Given the description of an element on the screen output the (x, y) to click on. 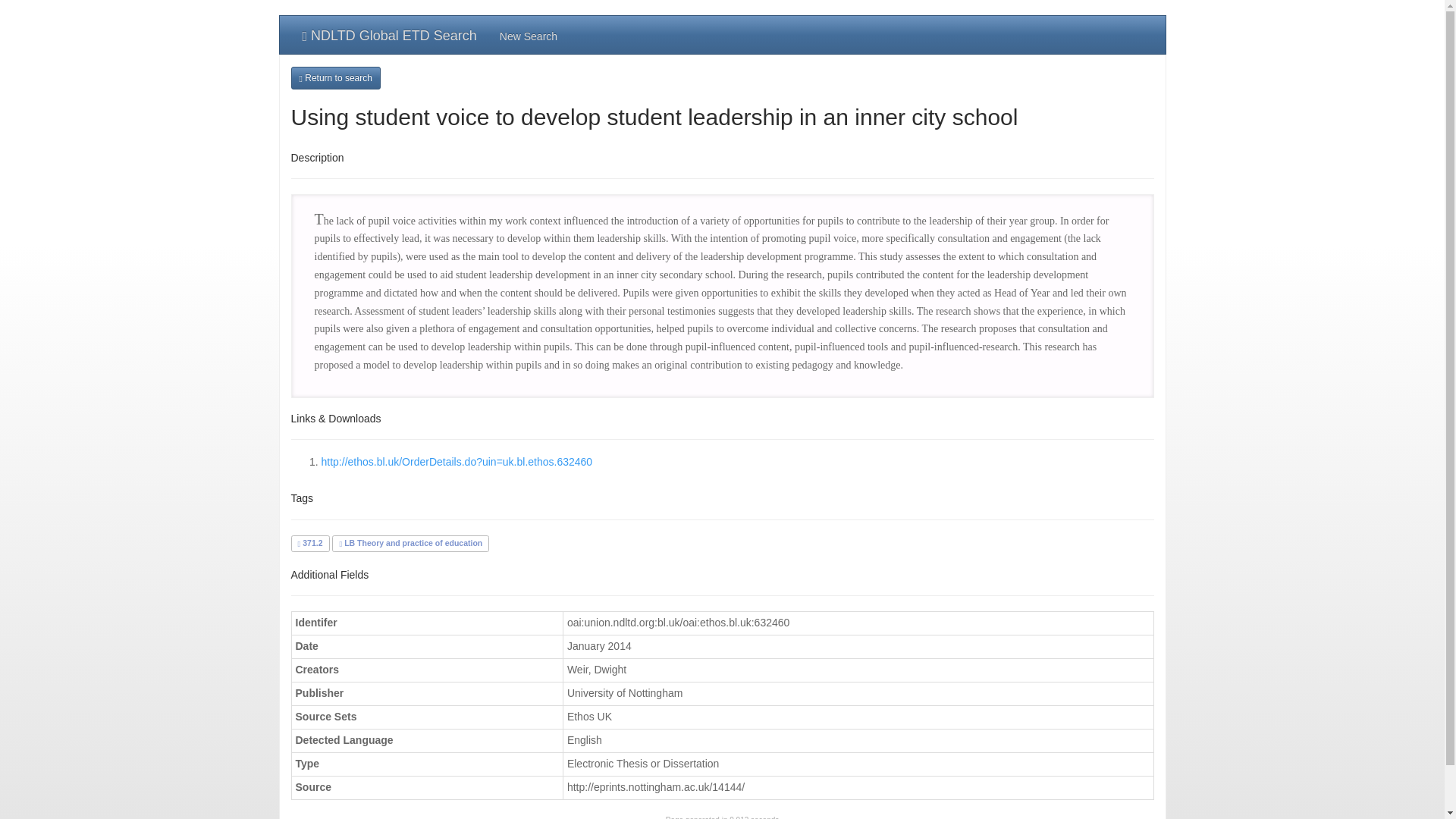
371.2 (309, 542)
New Search (528, 34)
NDLTD Global ETD Search (389, 34)
Return to search (335, 77)
LB Theory and practice of education (410, 542)
